Given the description of an element on the screen output the (x, y) to click on. 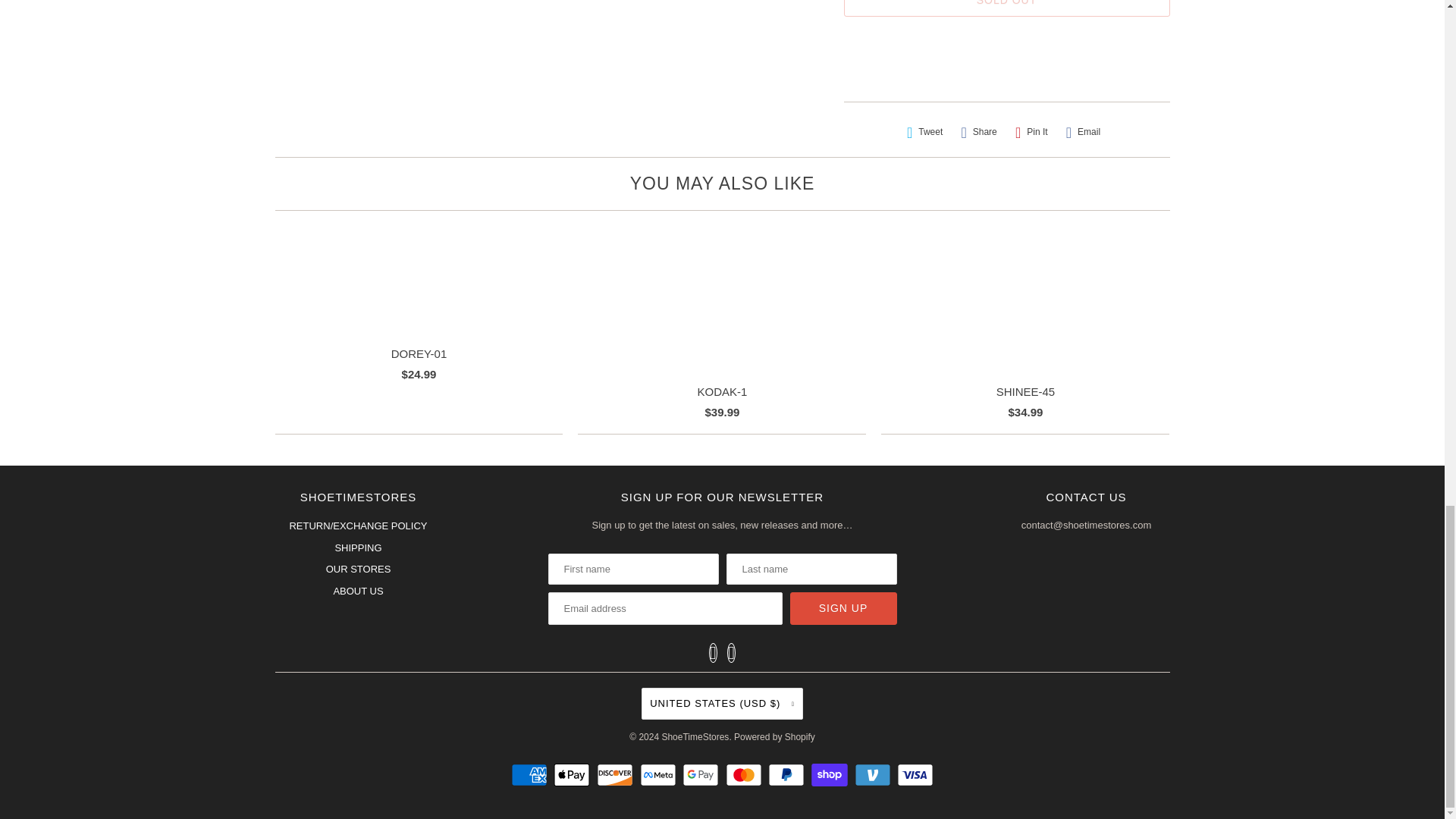
Discover (616, 774)
Sign Up (843, 608)
PayPal (788, 774)
Share this on Pinterest (1031, 131)
Venmo (874, 774)
Share this on Twitter (924, 131)
American Express (531, 774)
Email this to a friend (1083, 131)
Share this on Facebook (978, 131)
Visa (914, 774)
Mastercard (745, 774)
Shop Pay (830, 774)
Apple Pay (573, 774)
Google Pay (702, 774)
Meta Pay (659, 774)
